Given the description of an element on the screen output the (x, y) to click on. 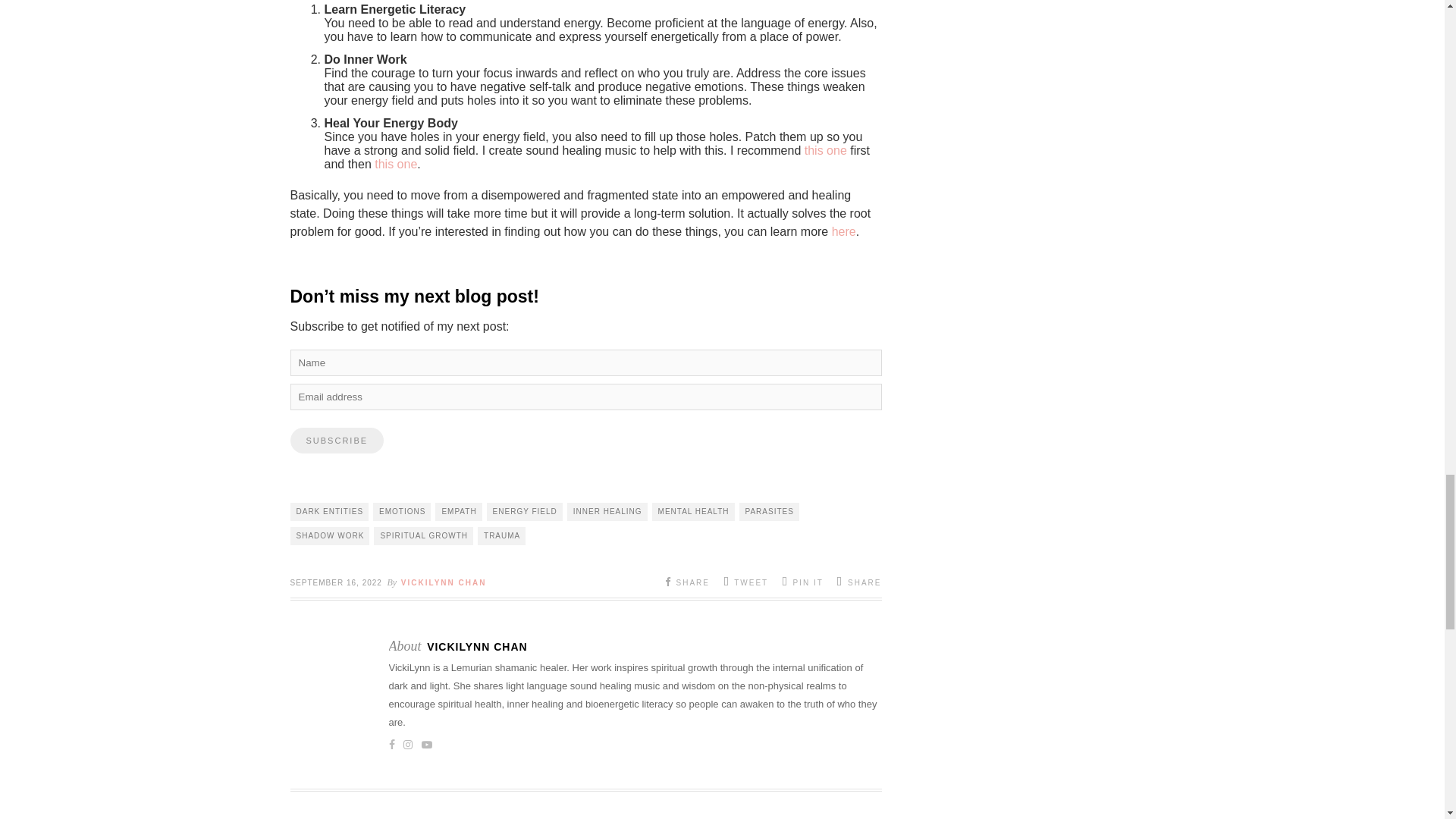
TRAUMA (501, 536)
PARASITES (769, 511)
SHADOW WORK (329, 536)
DARK ENTITIES (328, 511)
Subscribe (336, 440)
this one (395, 164)
Subscribe (336, 440)
here (843, 231)
MENTAL HEALTH (693, 511)
EMPATH (458, 511)
